Given the description of an element on the screen output the (x, y) to click on. 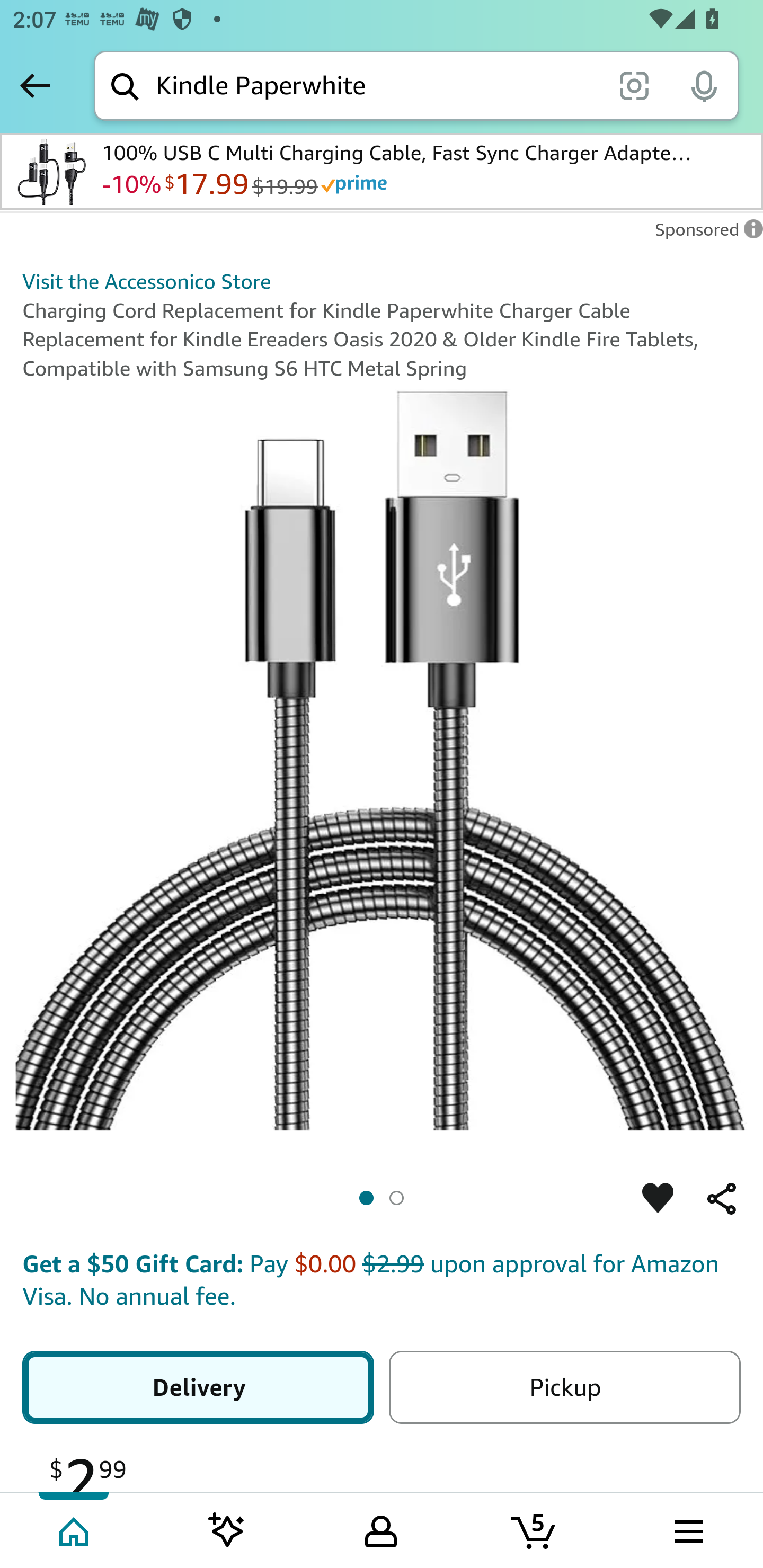
Back (35, 85)
scan it (633, 85)
Leave feedback on Sponsored ad Sponsored  (703, 234)
Visit the Accessonico Store (146, 281)
Heart filled, item saved to list (657, 1198)
Delivery (198, 1386)
Pickup (564, 1386)
Home Tab 1 of 5 (75, 1529)
Inspire feed Tab 2 of 5 (227, 1529)
Your Amazon.com Tab 3 of 5 (380, 1529)
Cart 5 items Tab 4 of 5 5 (534, 1529)
Browse menu Tab 5 of 5 (687, 1529)
